Given the description of an element on the screen output the (x, y) to click on. 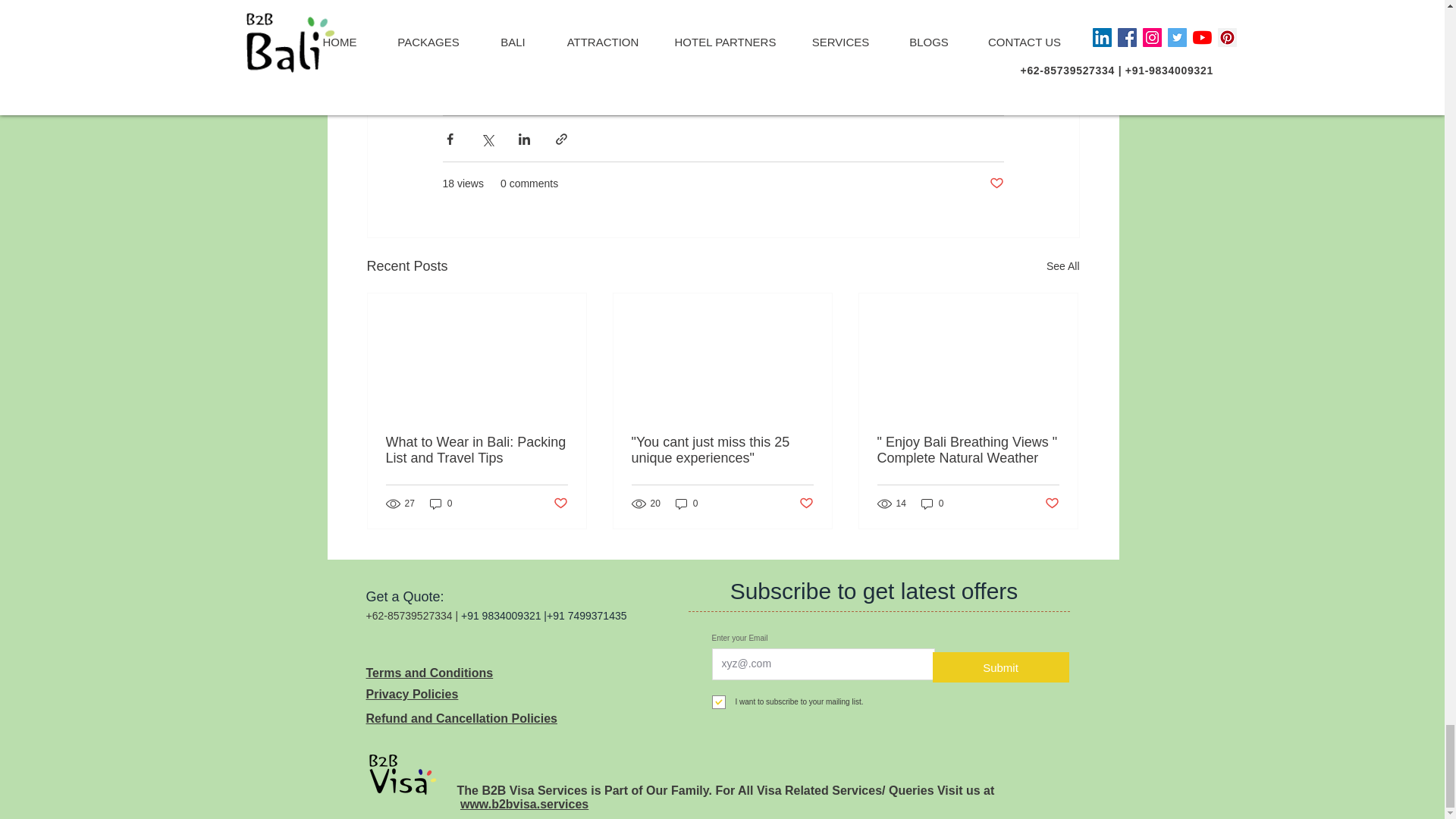
"You cant just miss this 25 unique experiences" (721, 450)
What to Wear in Bali: Packing List and Travel Tips (476, 450)
0 (441, 503)
See All (1063, 266)
Post not marked as liked (560, 503)
Post not marked as liked (995, 183)
